Given the description of an element on the screen output the (x, y) to click on. 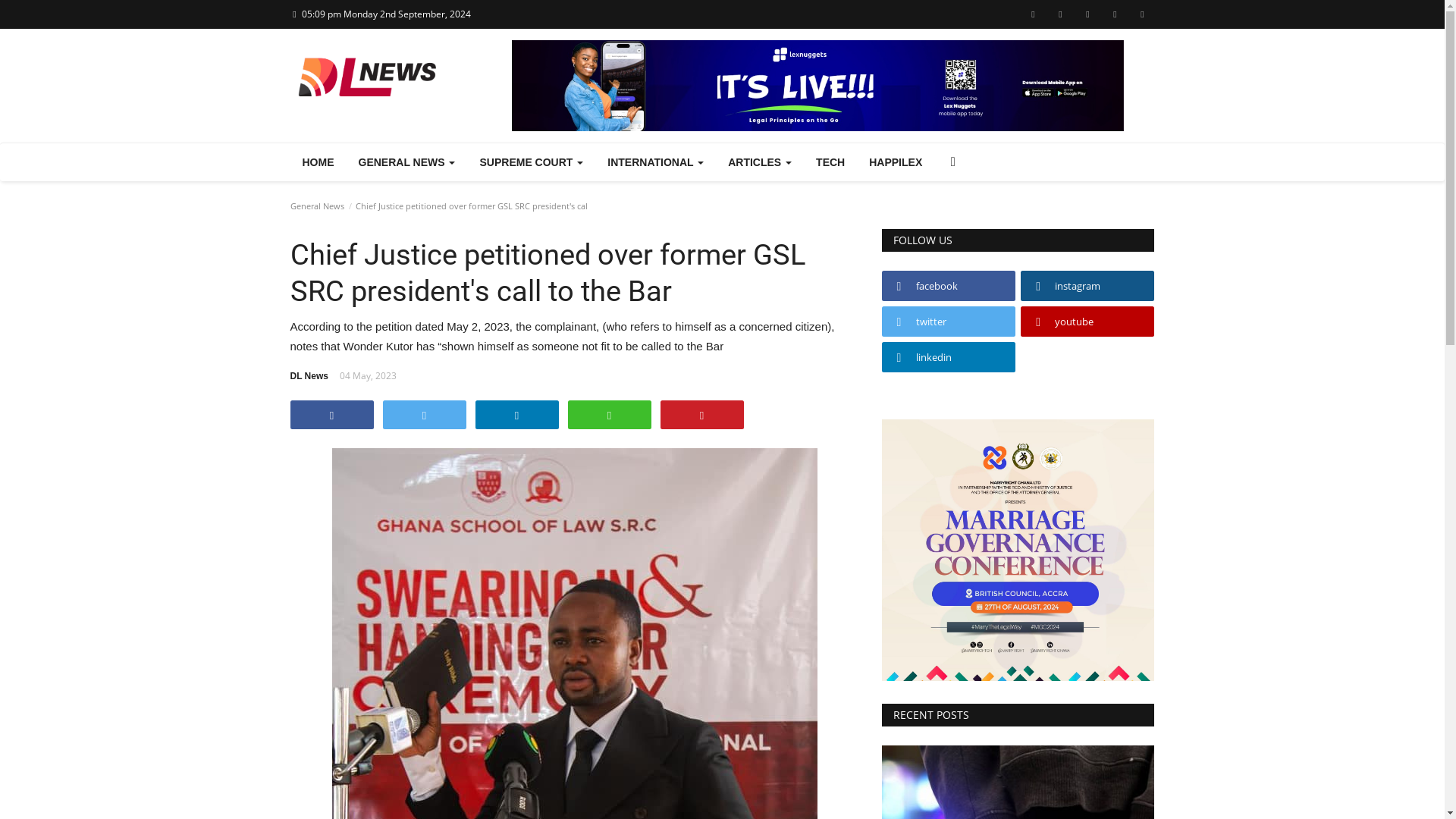
SUPREME COURT (531, 161)
ARTICLES (759, 161)
GENERAL NEWS (406, 161)
Lex Nuggets is LIVE (818, 85)
TECH (830, 161)
HOME (317, 161)
2024 Marriage Governance Conference (1017, 549)
HAPPILEX (895, 161)
INTERNATIONAL (655, 161)
